Given the description of an element on the screen output the (x, y) to click on. 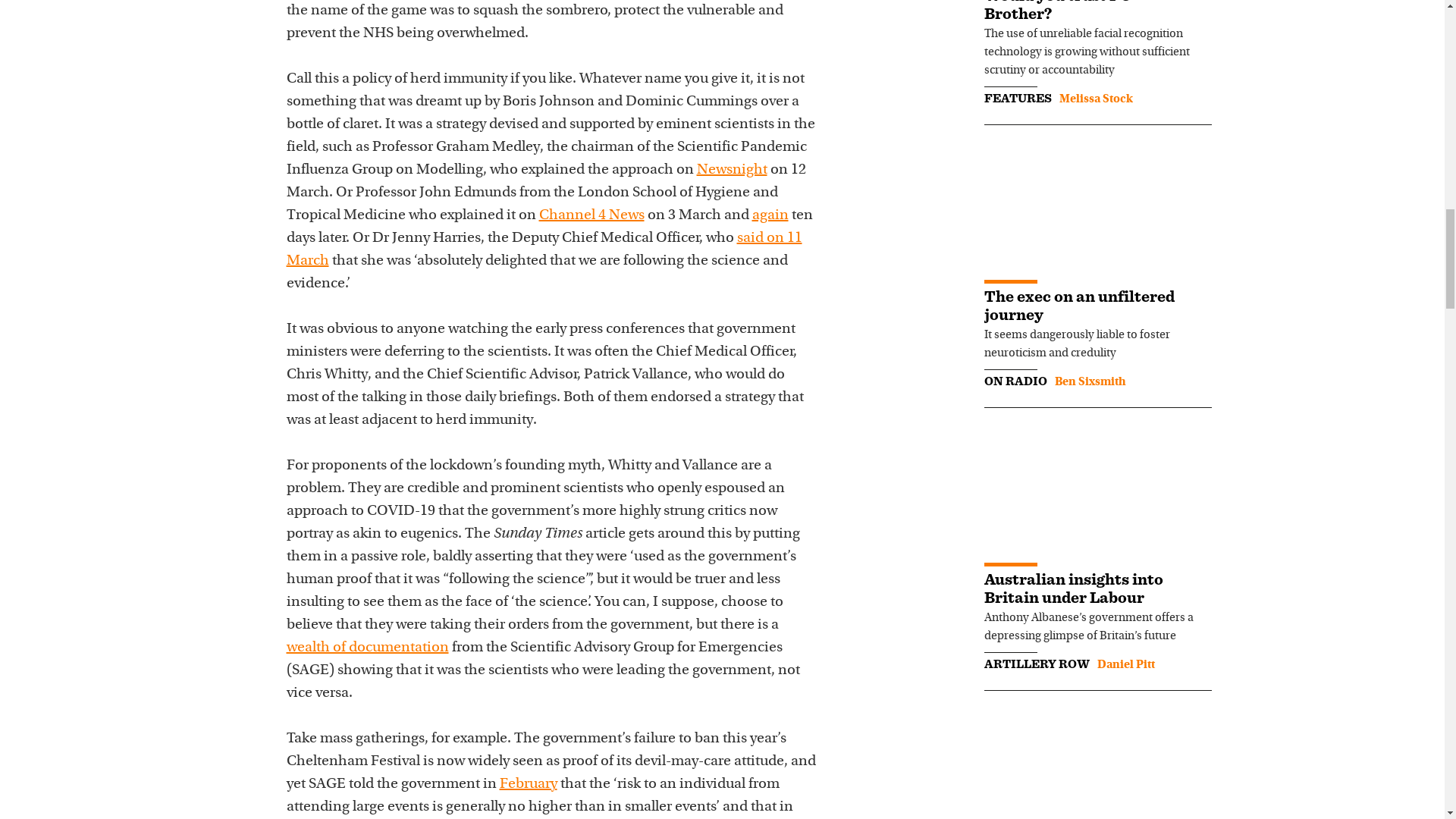
Channel 4 News (590, 215)
again (770, 215)
Posts by Daniel Pitt (1125, 664)
February (527, 783)
wealth of documentation (367, 647)
Newsnight (731, 169)
Posts by Melissa Stock (1095, 99)
said on 11 March (544, 249)
Posts by Ben Sixsmith (1089, 381)
